Given the description of an element on the screen output the (x, y) to click on. 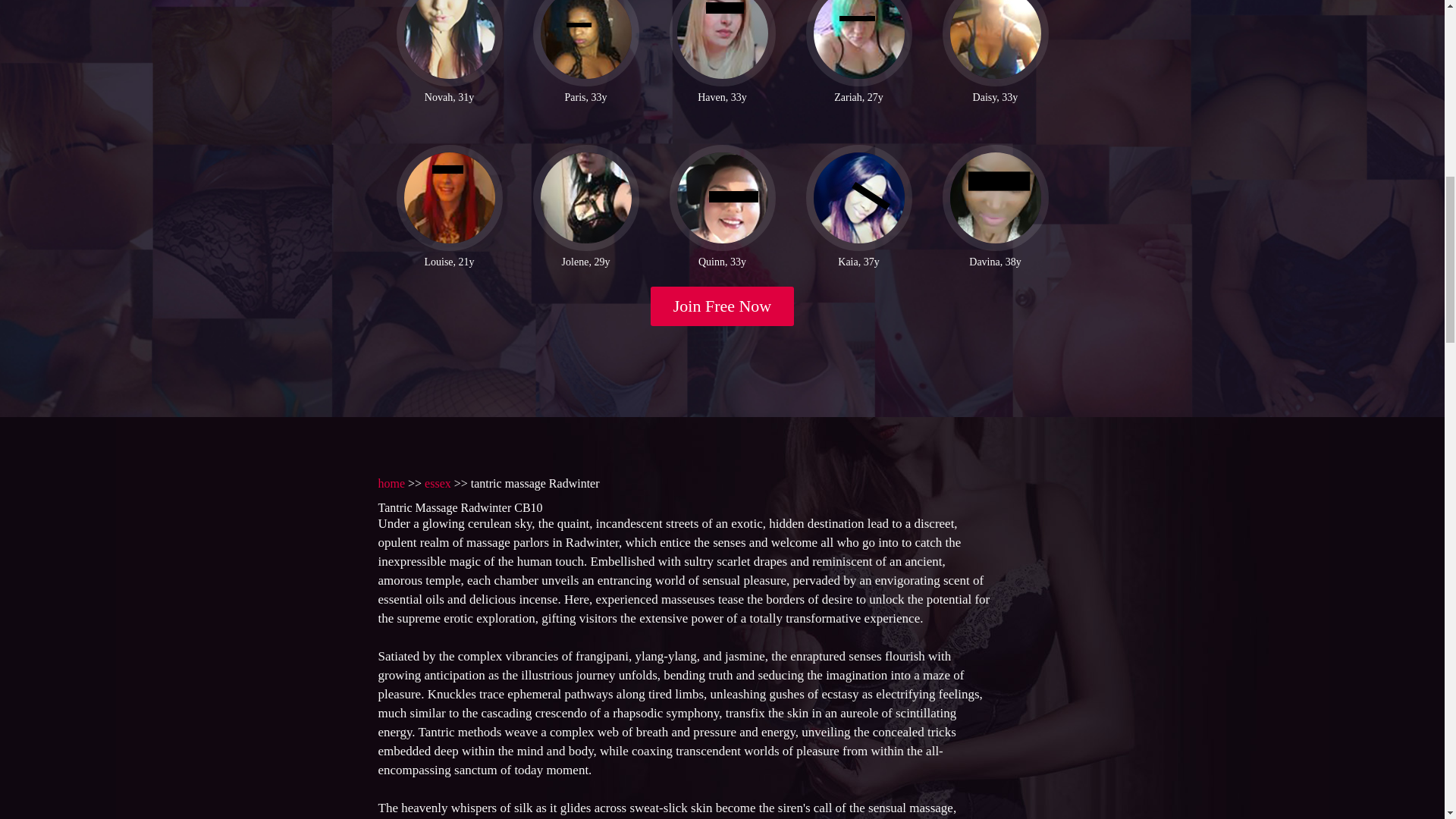
Join Free Now (722, 305)
Join (722, 305)
home (390, 482)
essex (438, 482)
